Given the description of an element on the screen output the (x, y) to click on. 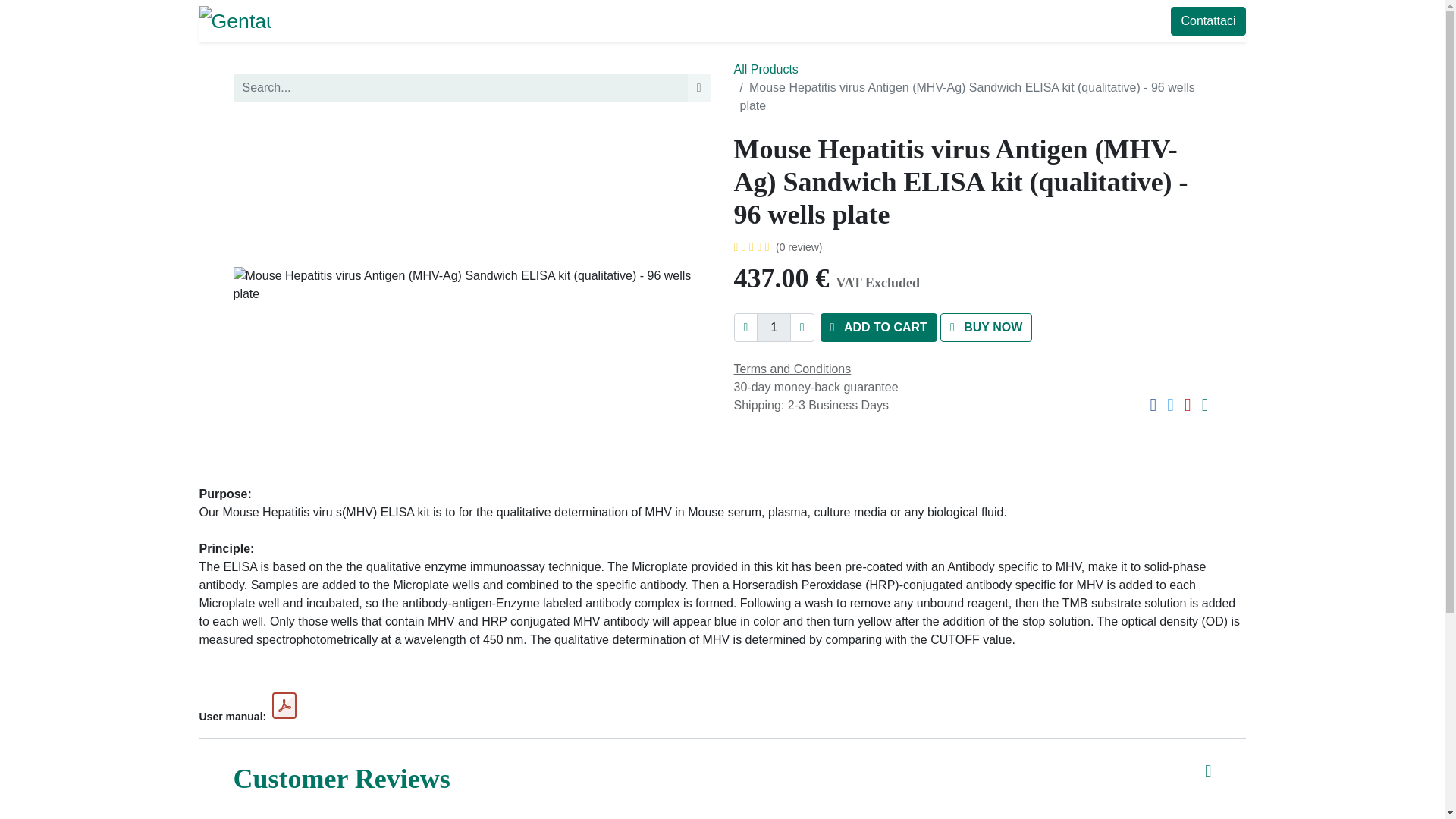
SL0676Mo.pdf (283, 705)
Gentaur Italia (234, 20)
Contattaci (1207, 21)
Terms and Conditions (792, 368)
All Products (765, 69)
ADD TO CART (879, 327)
BUY NOW (986, 327)
1 (773, 327)
